Given the description of an element on the screen output the (x, y) to click on. 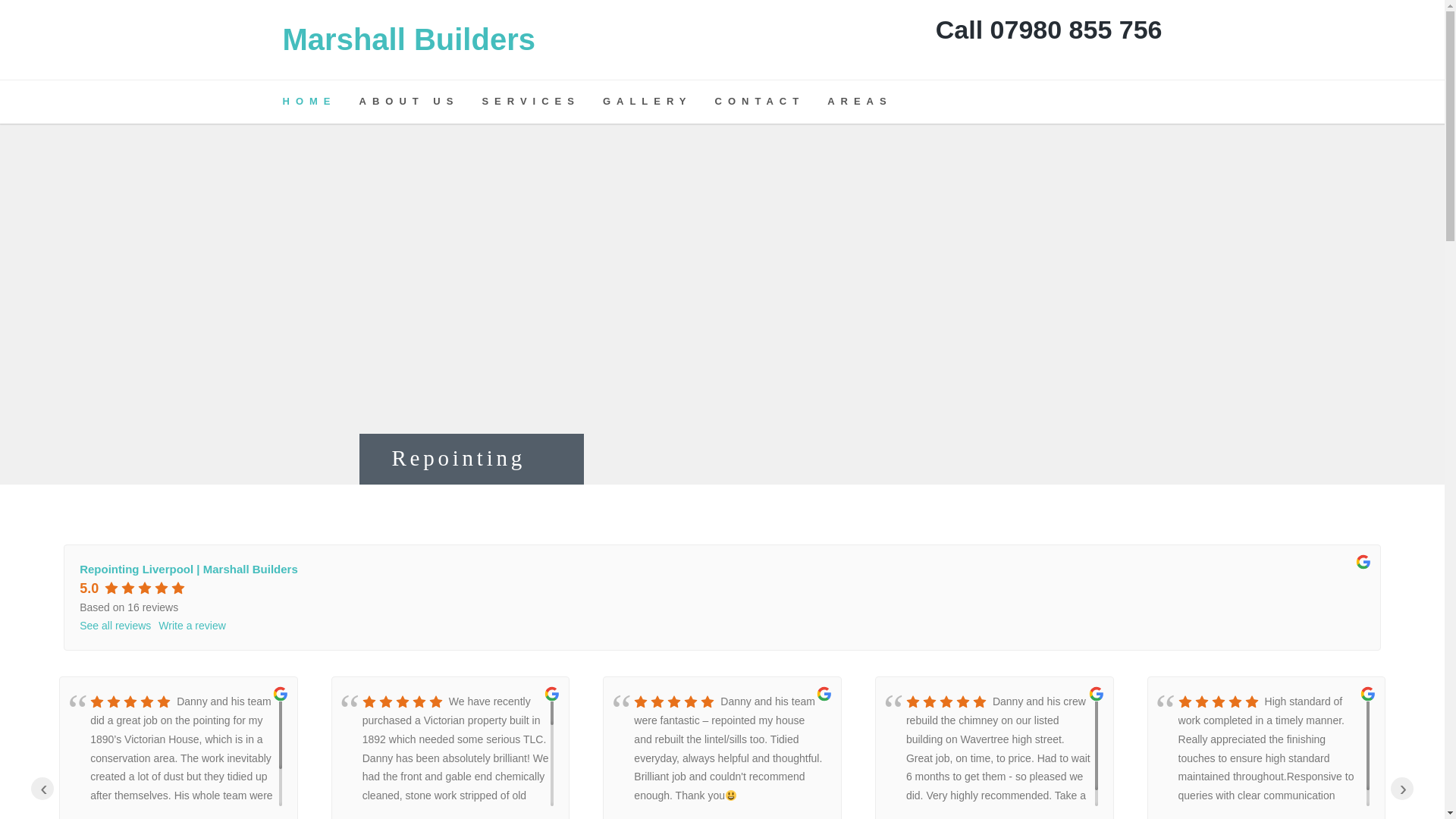
See all reviews (115, 625)
GALLERY (658, 101)
Write a review (191, 625)
SERVICES (541, 101)
CONTACT (771, 101)
AREAS (871, 101)
Marshall Builders (408, 39)
HOME (320, 101)
ABOUT US (420, 101)
